Given the description of an element on the screen output the (x, y) to click on. 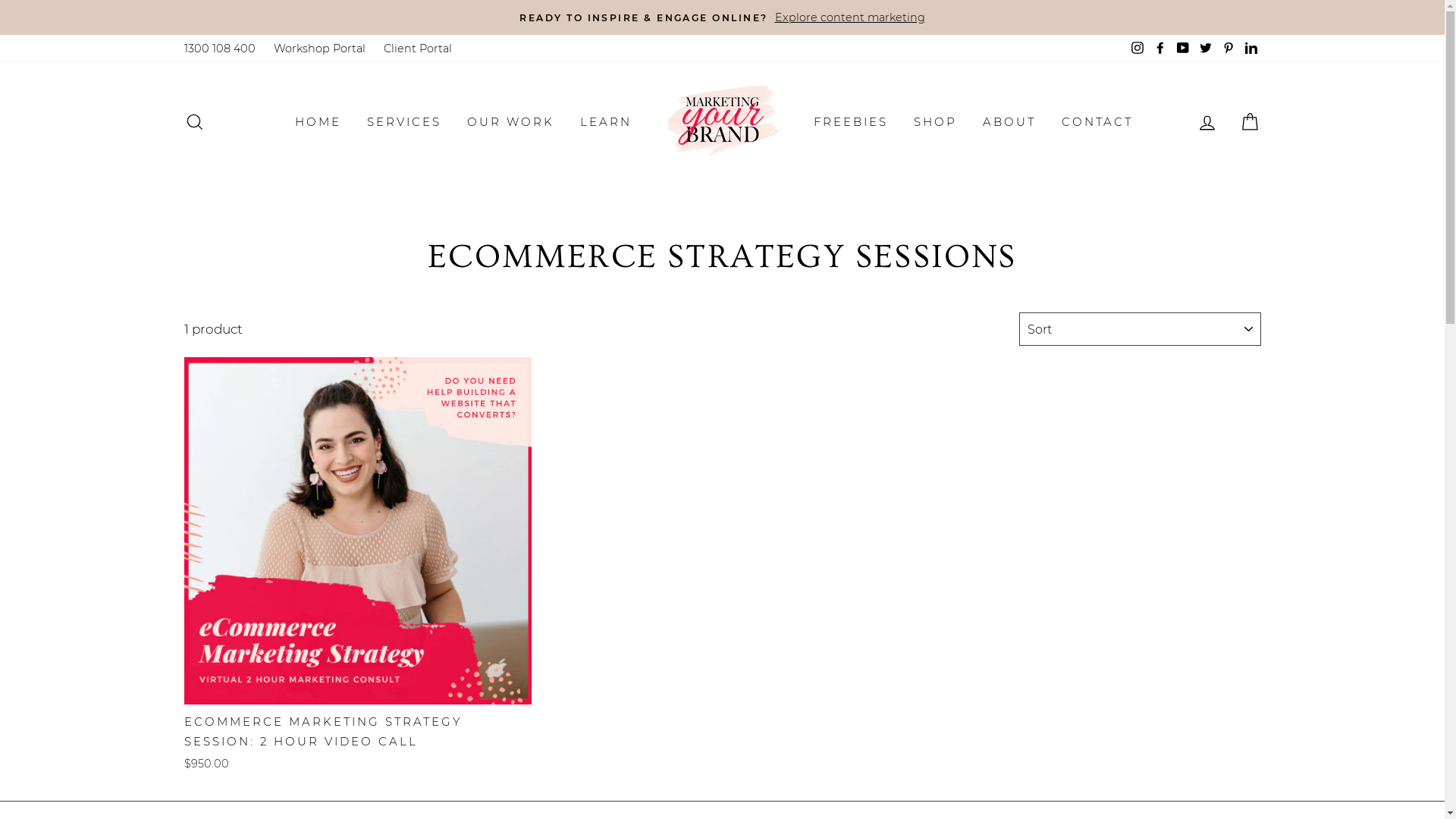
HOME Element type: text (317, 121)
CART Element type: text (1249, 121)
Chatbot Element type: hover (1383, 757)
Instagram Element type: text (1136, 48)
Workshop Portal Element type: text (318, 48)
LinkedIn Element type: text (1250, 48)
SEARCH Element type: text (193, 121)
SERVICES Element type: text (402, 121)
Facebook Element type: text (1159, 48)
ABOUT Element type: text (1008, 121)
Client Portal Element type: text (417, 48)
1300 108 400 Element type: text (218, 48)
READY TO INSPIRE & ENGAGE ONLINE? Explore content marketing Element type: text (722, 17)
Pinterest Element type: text (1227, 48)
CONTACT Element type: text (1096, 121)
OUR WORK Element type: text (509, 121)
YouTube Element type: text (1182, 48)
Skip to content Element type: text (0, 0)
FREEBIES Element type: text (850, 121)
SHOP Element type: text (935, 121)
LOG IN Element type: text (1206, 121)
LEARN Element type: text (605, 121)
Twitter Element type: text (1204, 48)
